Given the description of an element on the screen output the (x, y) to click on. 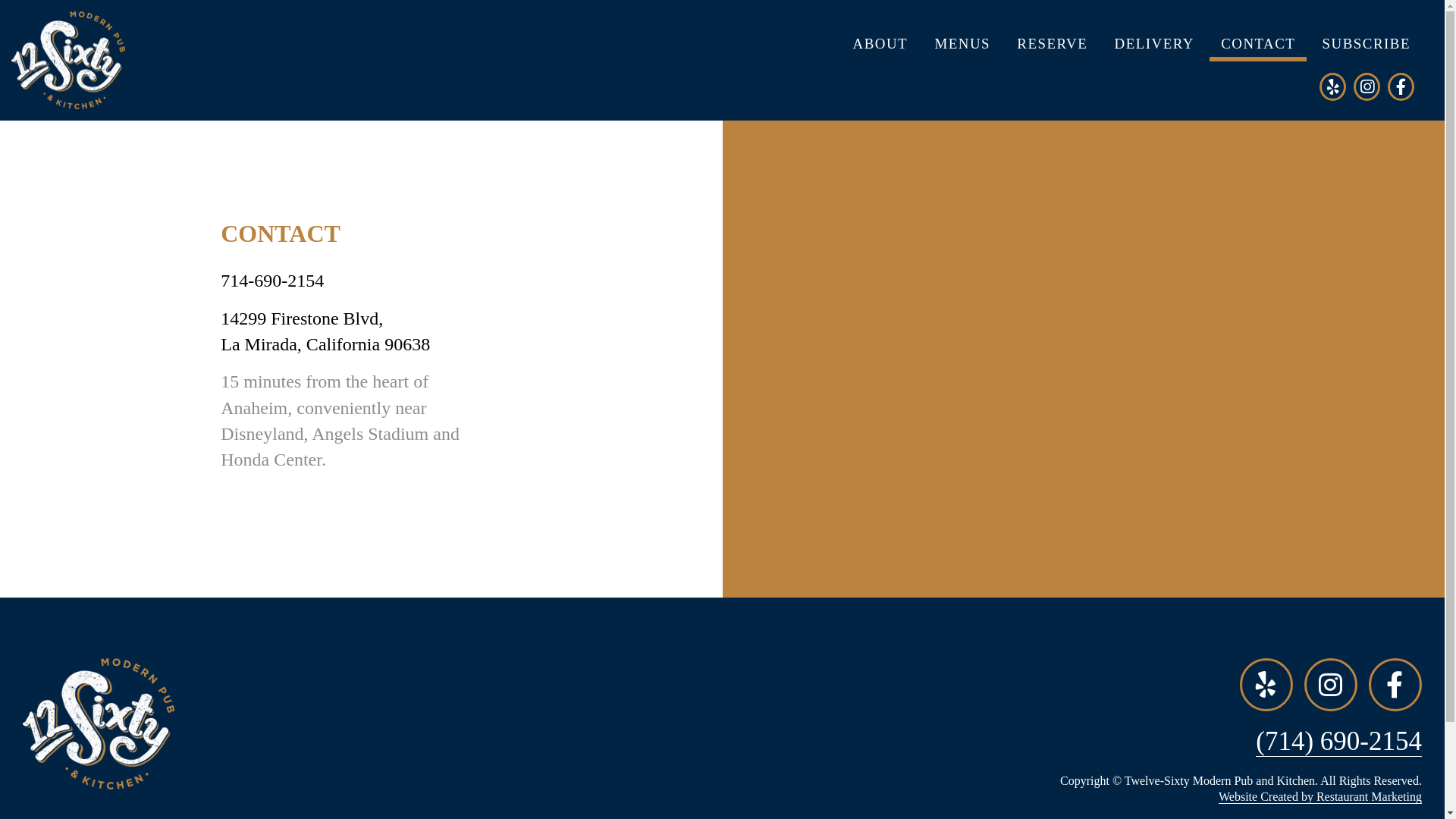
714-690-2154 Element type: text (271, 280)
Yelp Element type: text (1332, 86)
MENUS Element type: text (961, 43)
Website Created by Restaurant Marketing Element type: text (1319, 796)
Instagram Element type: text (1366, 86)
(714) 690-2154 Element type: text (1338, 741)
Twelve-Sixty Modern Pub and Kitchen Element type: text (64, 143)
Facebook Element type: text (1400, 86)
ABOUT Element type: text (880, 43)
SUBSCRIBE Element type: text (1366, 43)
RESERVE Element type: text (1051, 43)
DELIVERY Element type: text (1153, 43)
CONTACT Element type: text (1257, 43)
